Given the description of an element on the screen output the (x, y) to click on. 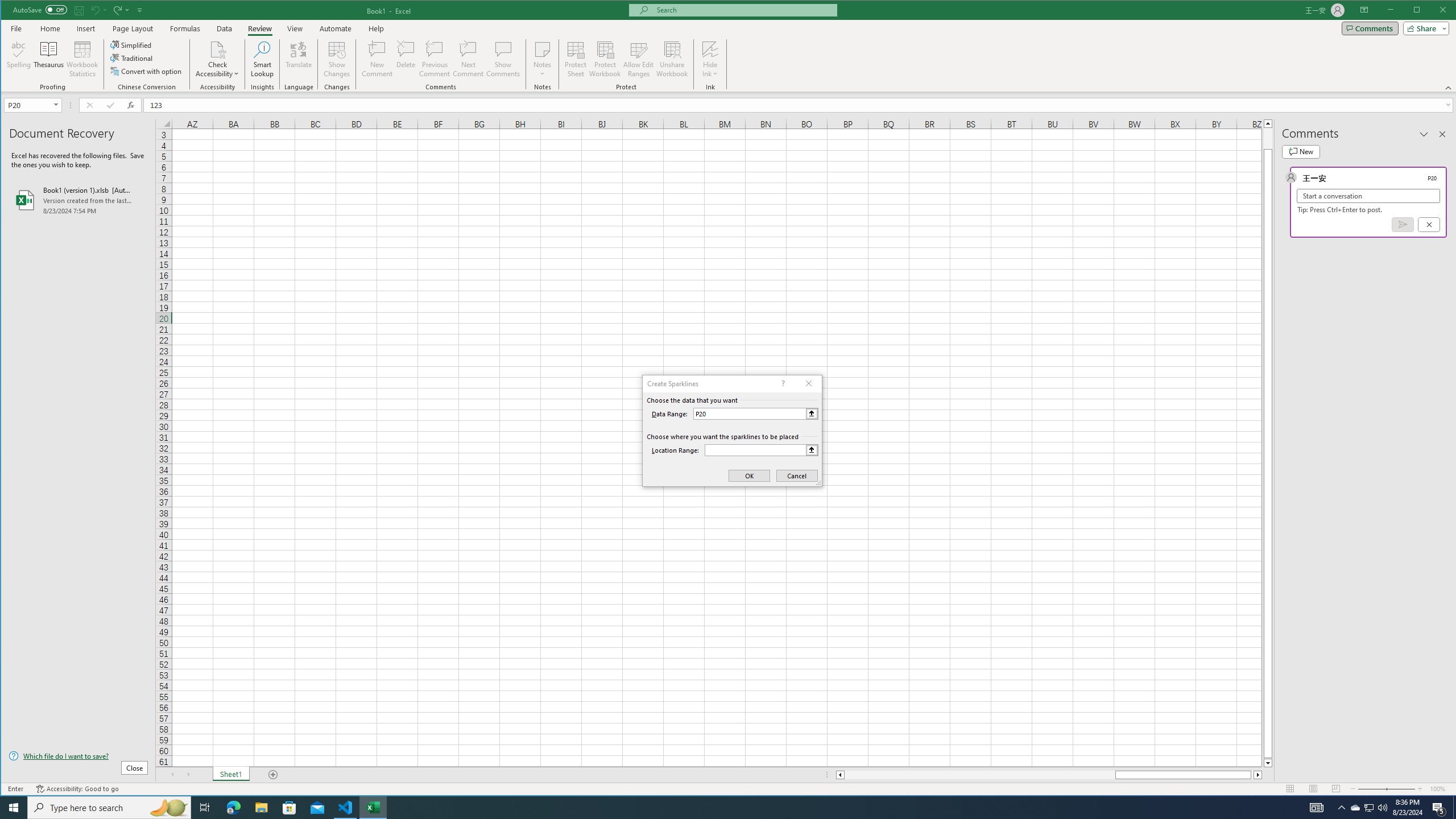
Hide Ink (710, 59)
Page up (1267, 138)
New Comment (377, 59)
Workbook Statistics (82, 59)
Which file do I want to save? (78, 755)
